Given the description of an element on the screen output the (x, y) to click on. 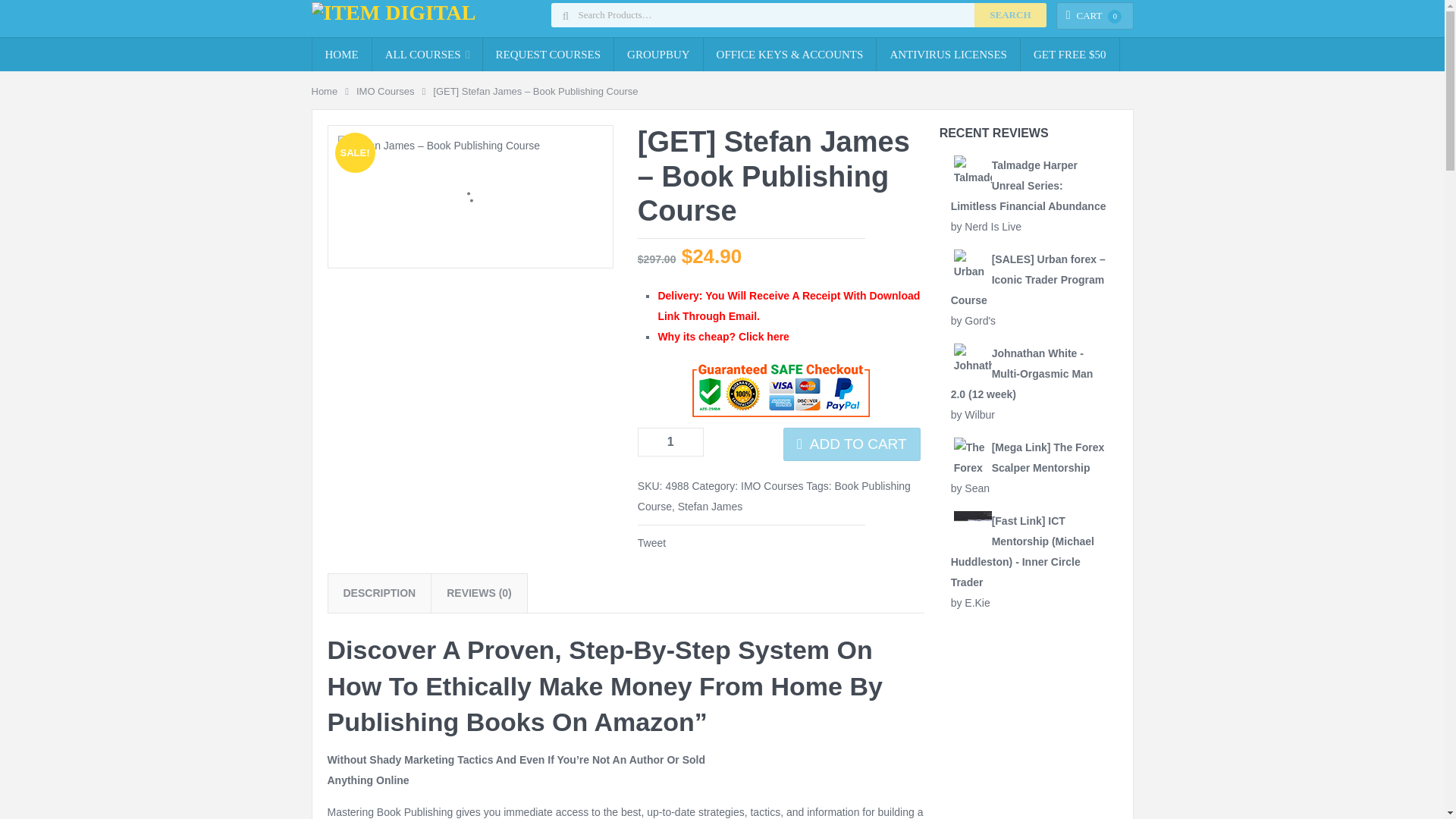
DESCRIPTION (378, 593)
IMO Courses (772, 485)
Tweet (651, 542)
Qty (670, 441)
REQUEST COURSES (548, 54)
CART0 (1094, 15)
ALL COURSES (426, 54)
here (778, 336)
Book Publishing Course (774, 495)
Home (324, 91)
